Given the description of an element on the screen output the (x, y) to click on. 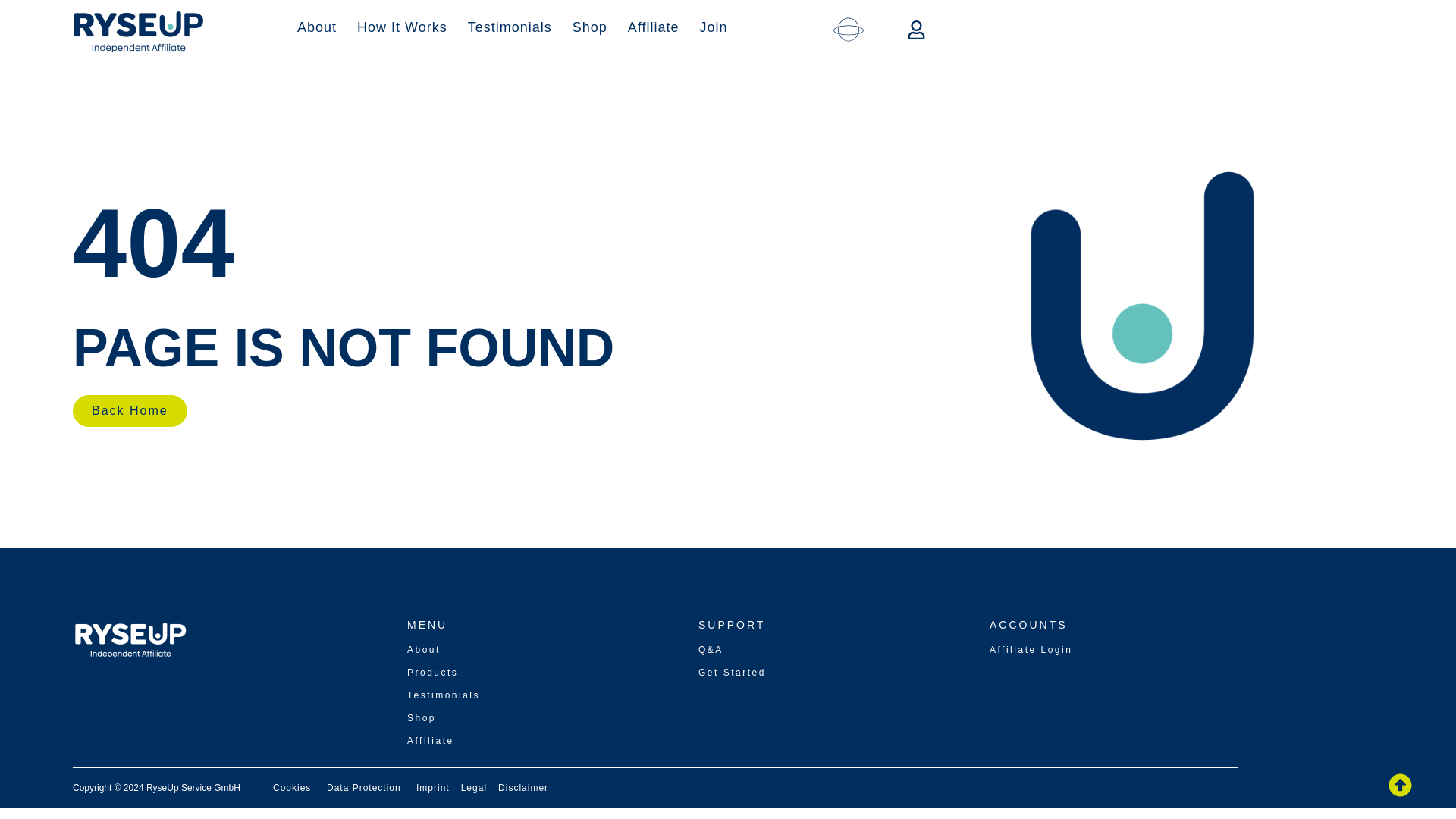
SUPPORT (731, 624)
Shop (421, 717)
How It Works (402, 26)
About (316, 26)
Get Started (731, 672)
Shop (589, 26)
Testimonials (510, 26)
Back Home (129, 410)
About (424, 649)
Legal (473, 787)
Disclaimer (522, 787)
Imprint (432, 787)
Affiliate Login (1030, 649)
ACCOUNTS (1028, 624)
Affiliate (653, 26)
